Given the description of an element on the screen output the (x, y) to click on. 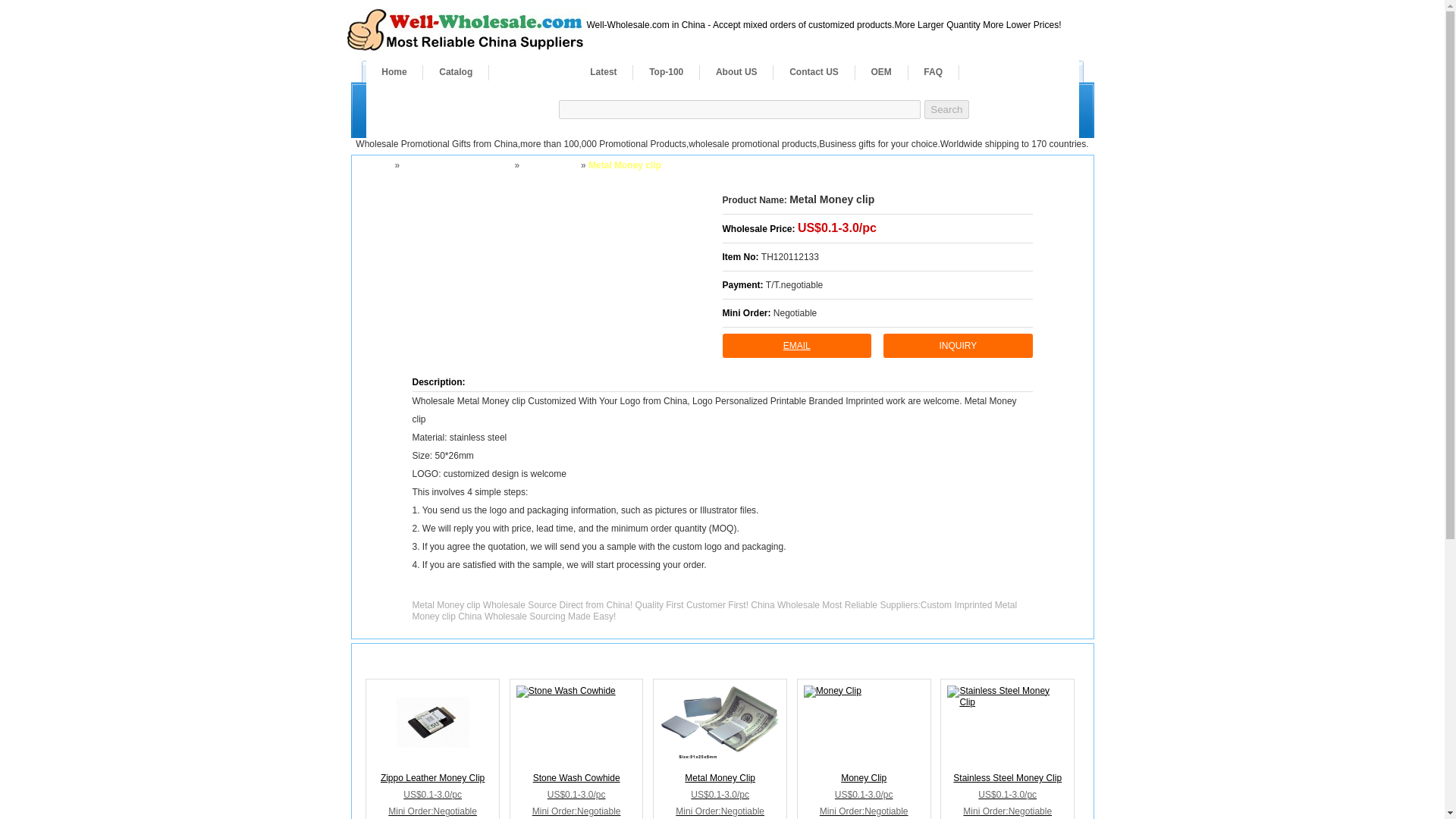
FAQ (933, 71)
Home (376, 164)
Money Clip (863, 721)
Latest (602, 71)
Zippo Leather Money Clip (432, 752)
EMAIL (796, 345)
Metal Money Clip (719, 752)
Catalog (455, 71)
Zippo Leather Money Clip (432, 721)
OEM (881, 71)
